Given the description of an element on the screen output the (x, y) to click on. 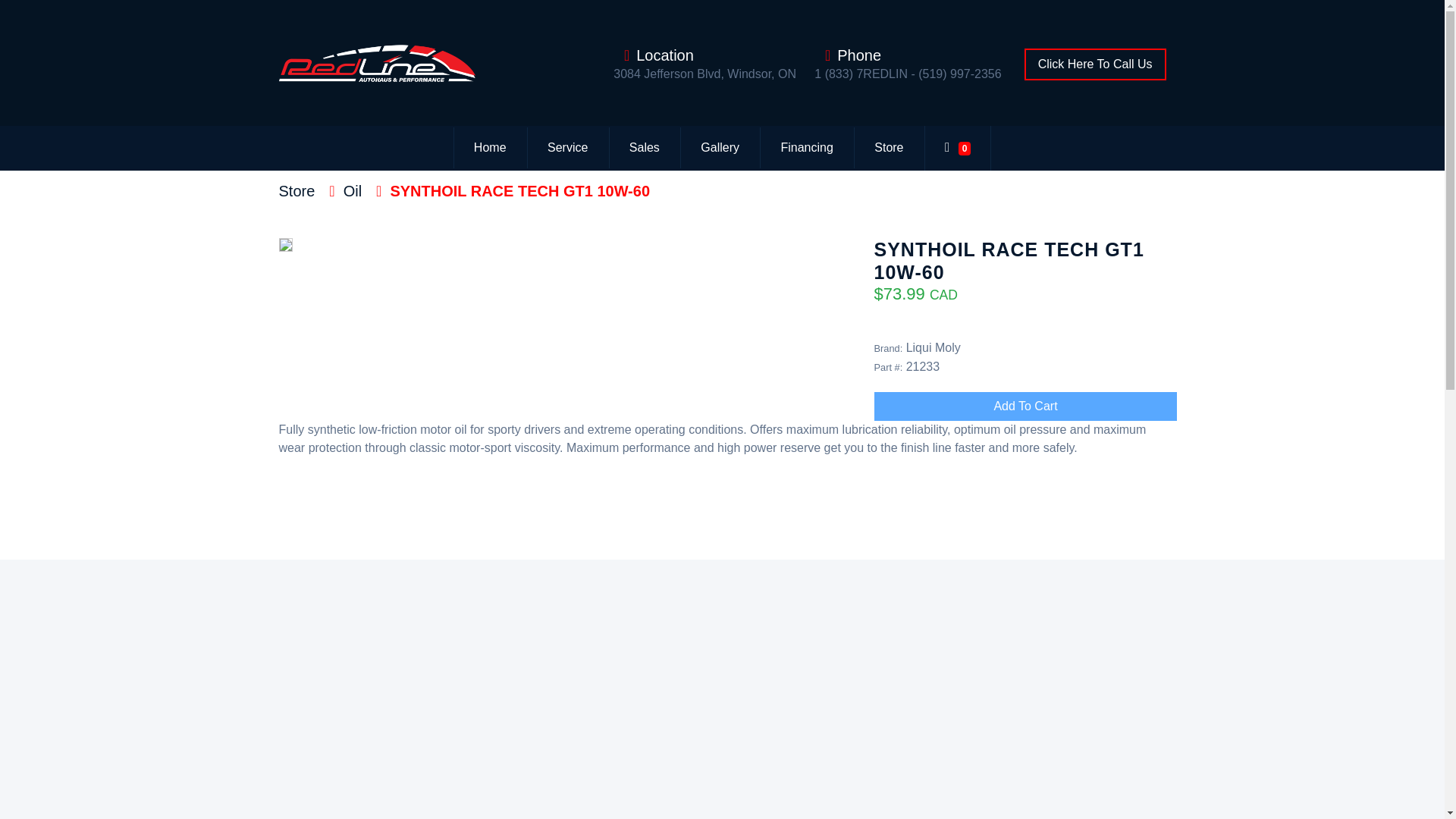
Service (567, 147)
Oil (352, 190)
Financing (806, 147)
Store (297, 190)
Gallery (719, 147)
Add To Cart (1024, 406)
Click Here To Call Us (1095, 64)
